Given the description of an element on the screen output the (x, y) to click on. 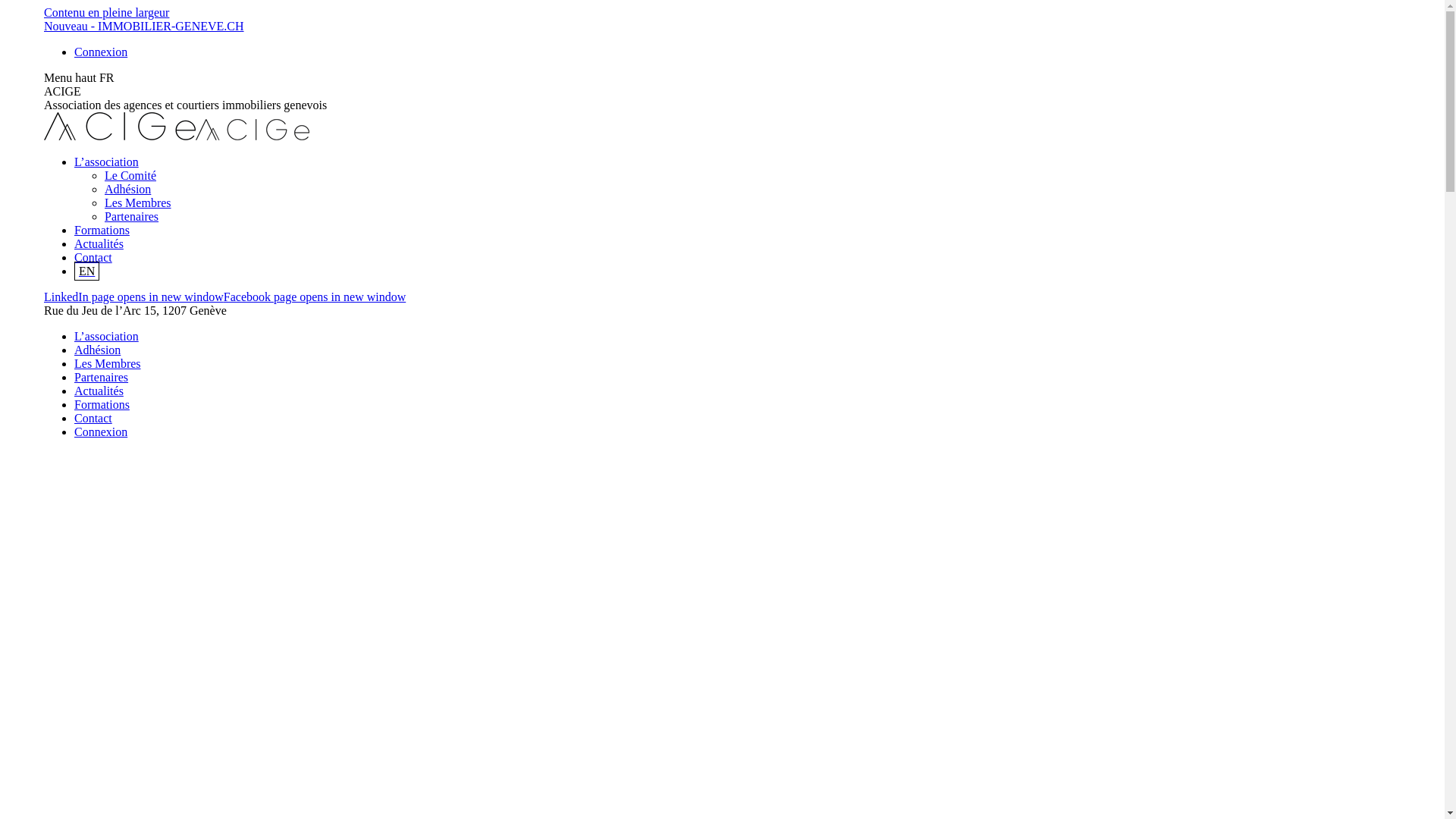
Contenu en pleine largeur Element type: text (106, 12)
Partenaires Element type: text (131, 216)
LinkedIn page opens in new window Element type: text (133, 296)
Les Membres Element type: text (107, 363)
Connexion Element type: text (100, 431)
Contact Element type: text (93, 417)
Nouveau - IMMOBILIER-GENEVE.CH Element type: text (143, 25)
EN Element type: text (86, 270)
Contact Element type: text (93, 257)
Formations Element type: text (101, 404)
Formations Element type: text (101, 229)
Les Membres Element type: text (137, 202)
Connexion Element type: text (100, 51)
Partenaires Element type: text (101, 376)
Facebook page opens in new window Element type: text (314, 296)
